Given the description of an element on the screen output the (x, y) to click on. 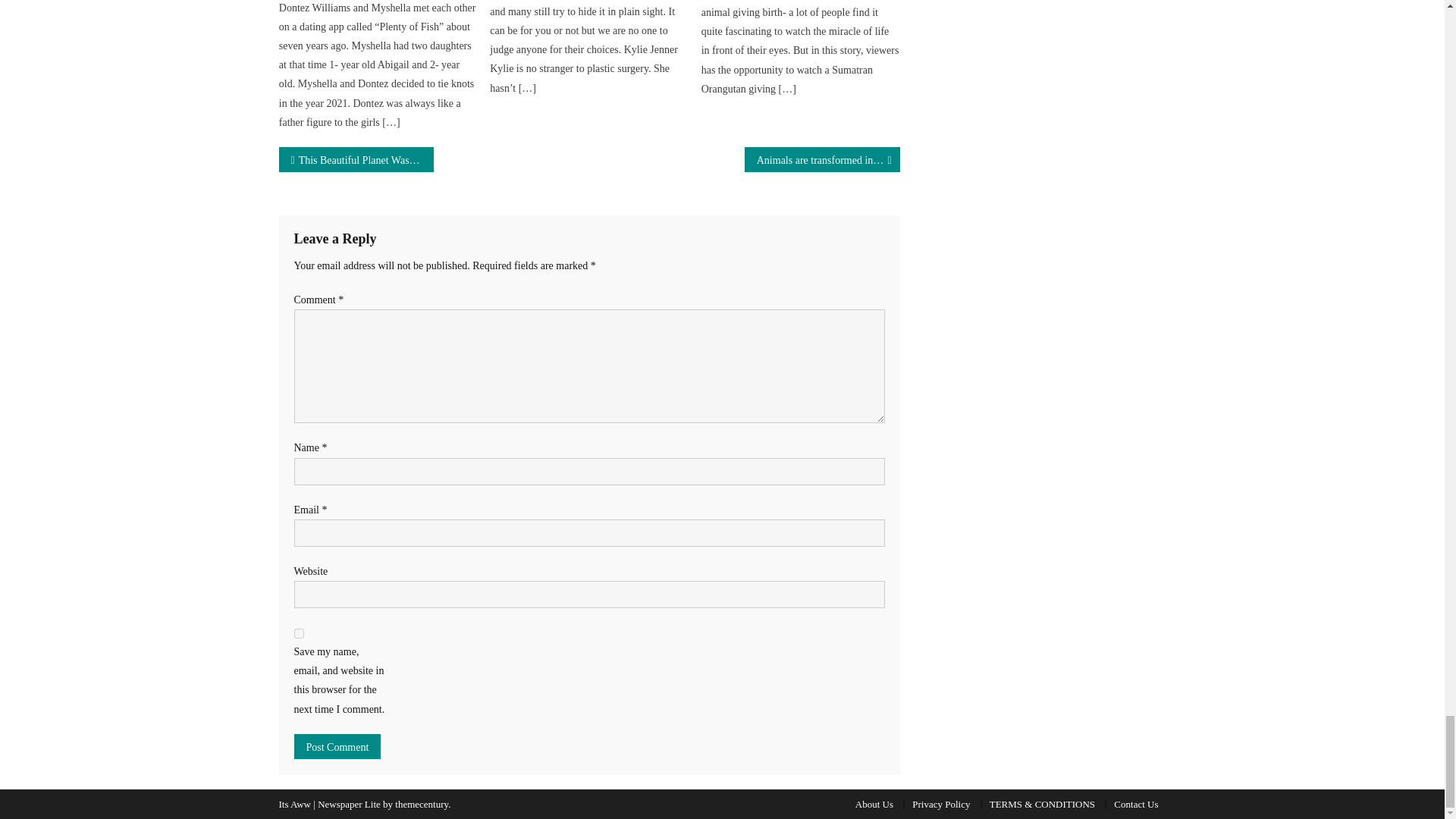
yes (299, 633)
Post Comment (337, 746)
Post Comment (337, 746)
